Given the description of an element on the screen output the (x, y) to click on. 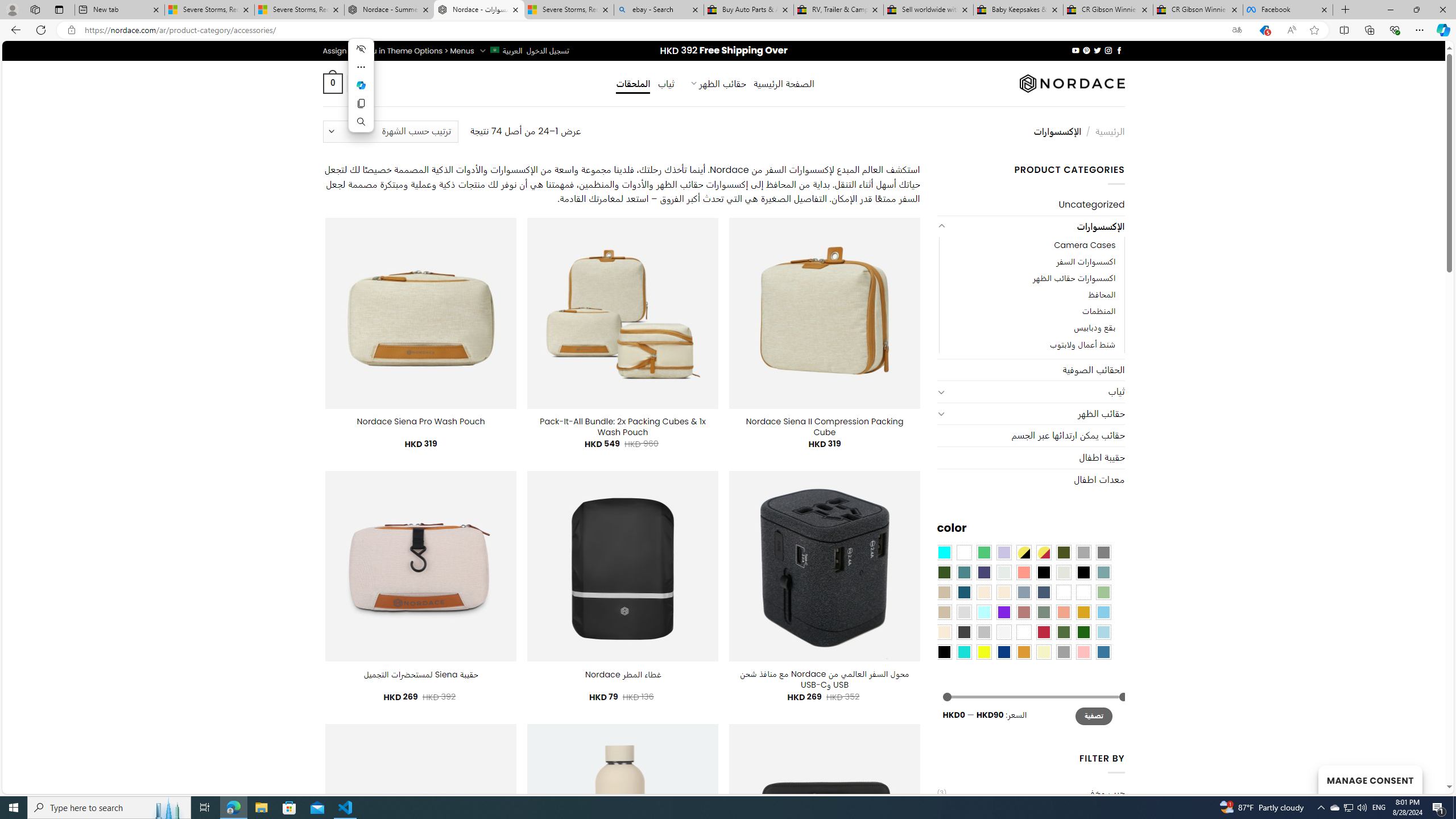
Black-Brown (1082, 572)
